Given the description of an element on the screen output the (x, y) to click on. 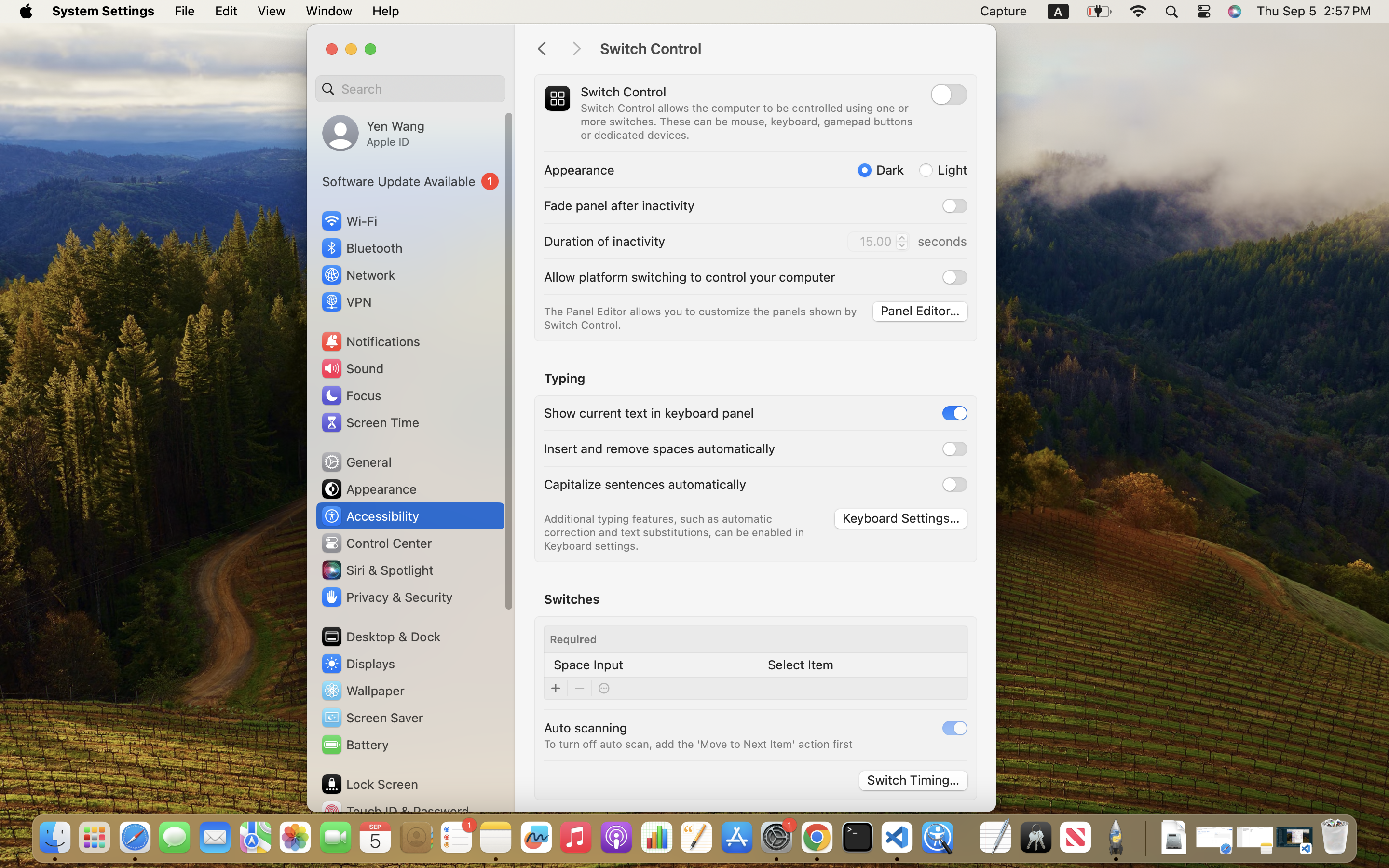
Space Input Element type: AXStaticText (588, 664)
Lock Screen Element type: AXStaticText (369, 783)
Fade panel after inactivity Element type: AXStaticText (619, 205)
